Given the description of an element on the screen output the (x, y) to click on. 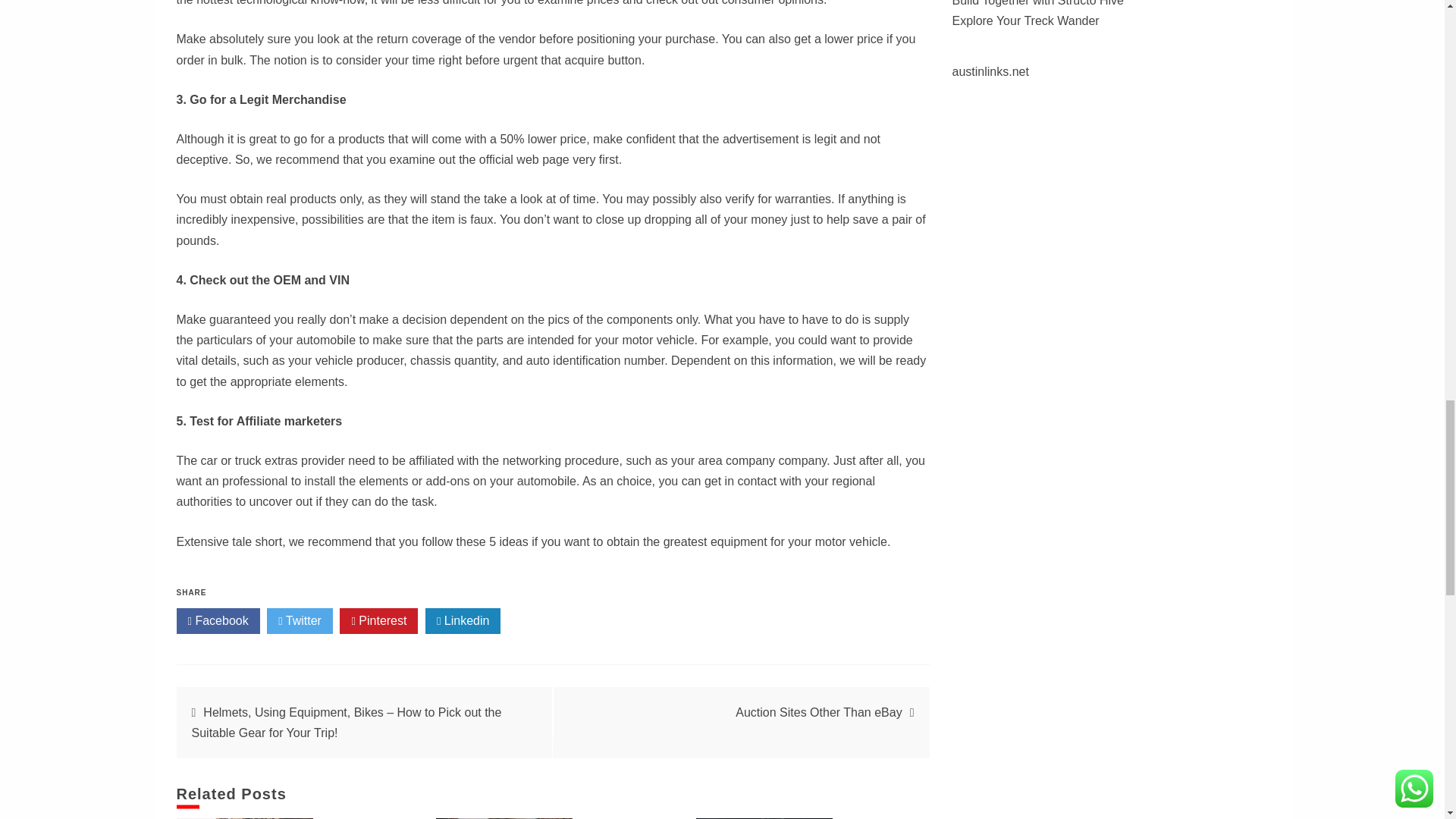
Pinterest (378, 620)
Facebook (217, 620)
Linkedin (462, 620)
Twitter (299, 620)
Auction Sites Other Than eBay (818, 712)
